Given the description of an element on the screen output the (x, y) to click on. 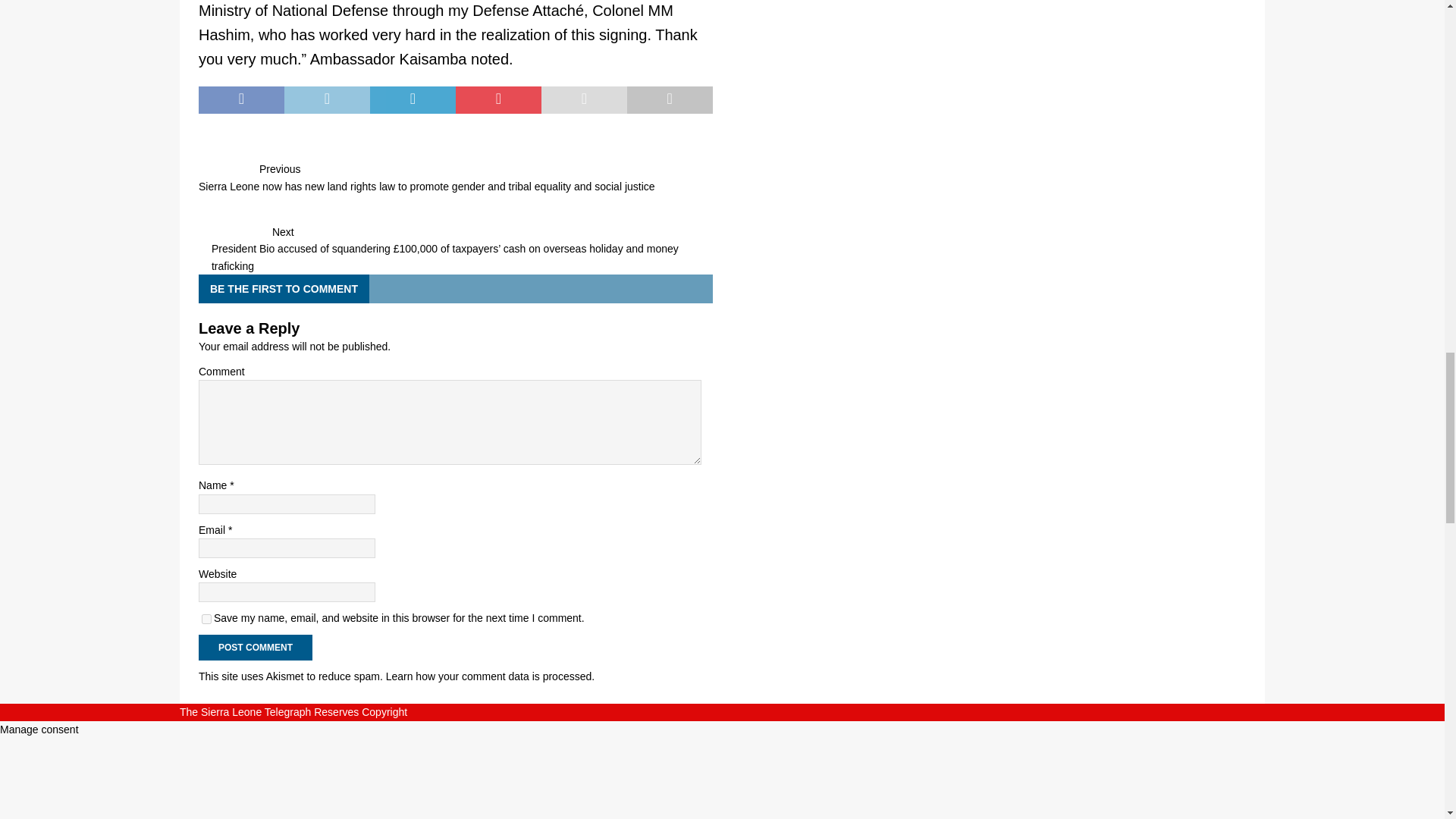
Post Comment (255, 647)
yes (206, 619)
